Given the description of an element on the screen output the (x, y) to click on. 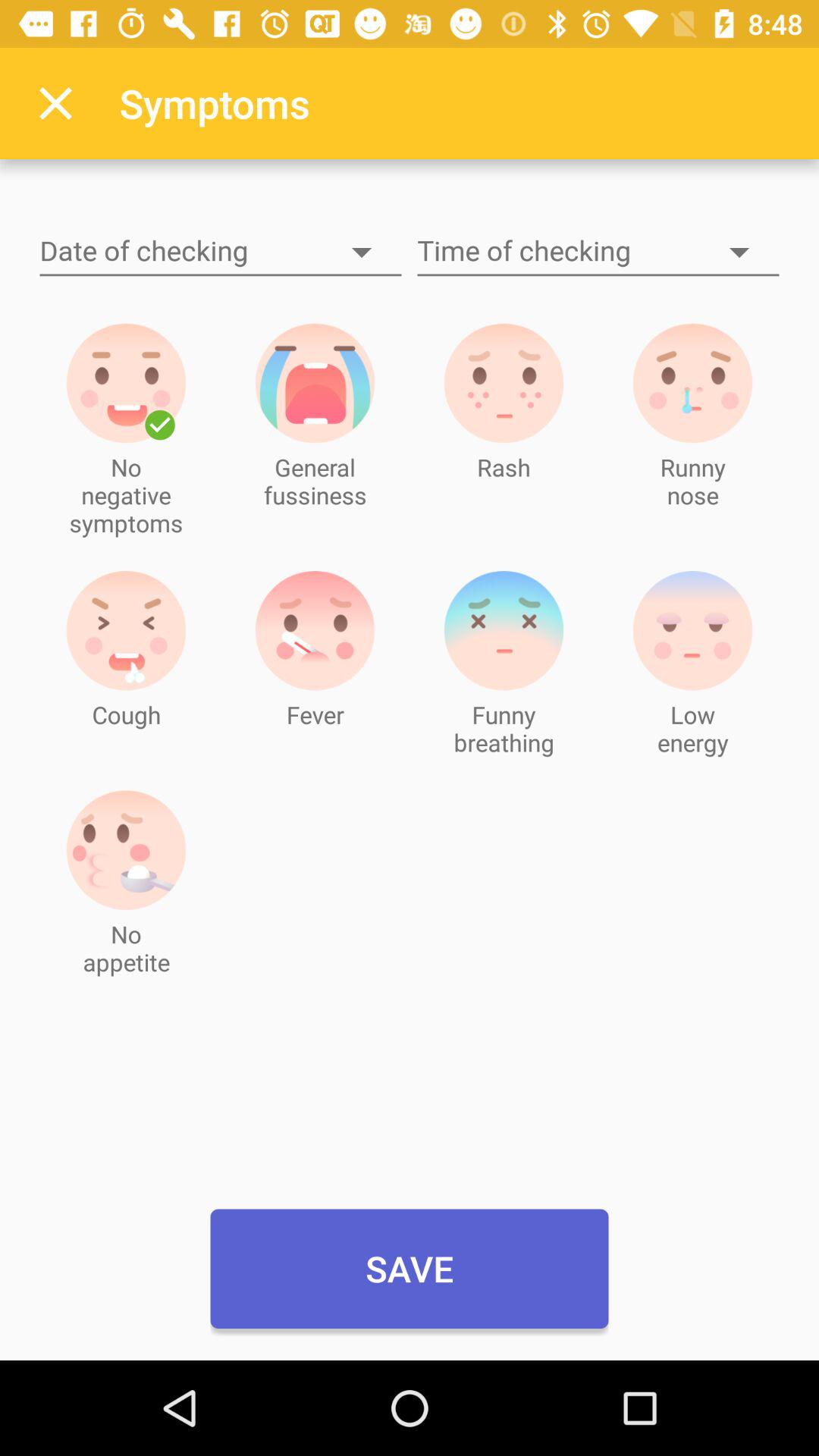
time checking toggle (598, 251)
